Given the description of an element on the screen output the (x, y) to click on. 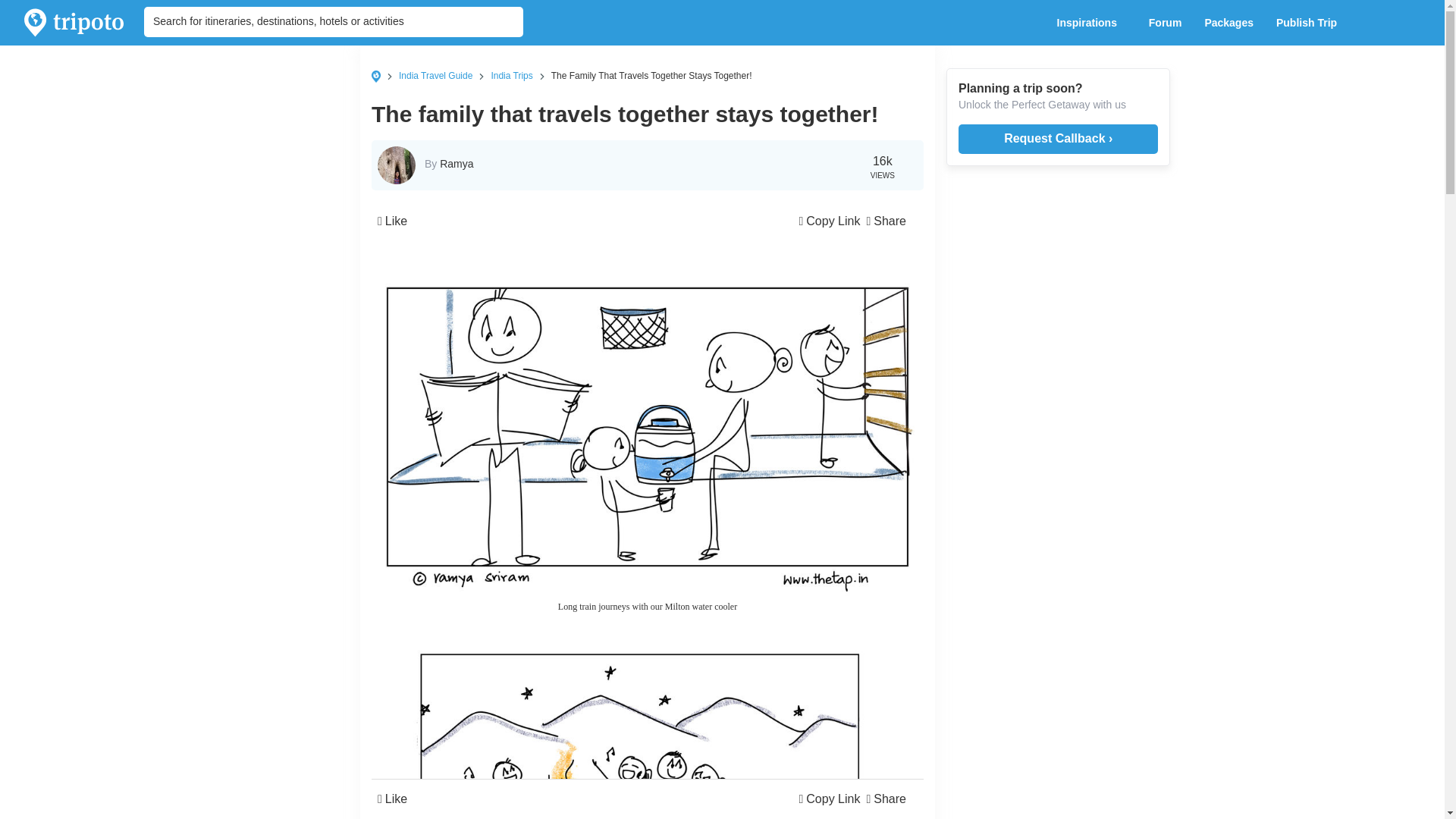
India Trips (511, 75)
Forum (1165, 22)
By Ramya (449, 163)
The Family That Travels Together Stays Together! (651, 75)
Inspirations (1091, 22)
Forum (1165, 22)
Publish Trip (1310, 22)
Publish Trip  (1310, 22)
Inspirations (1091, 22)
Packages (1228, 22)
